Given the description of an element on the screen output the (x, y) to click on. 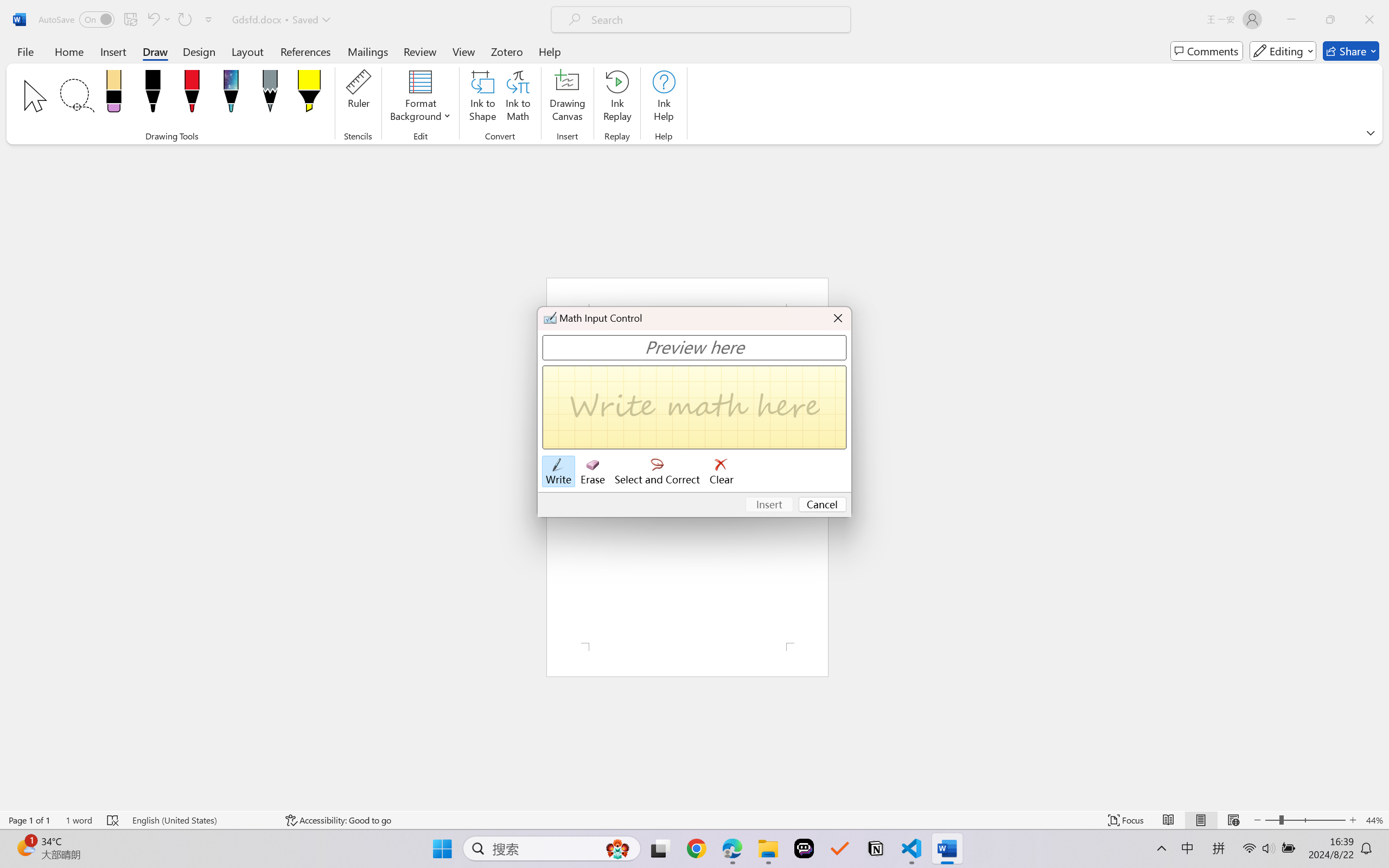
Google Chrome (696, 848)
Cancel (822, 504)
